Given the description of an element on the screen output the (x, y) to click on. 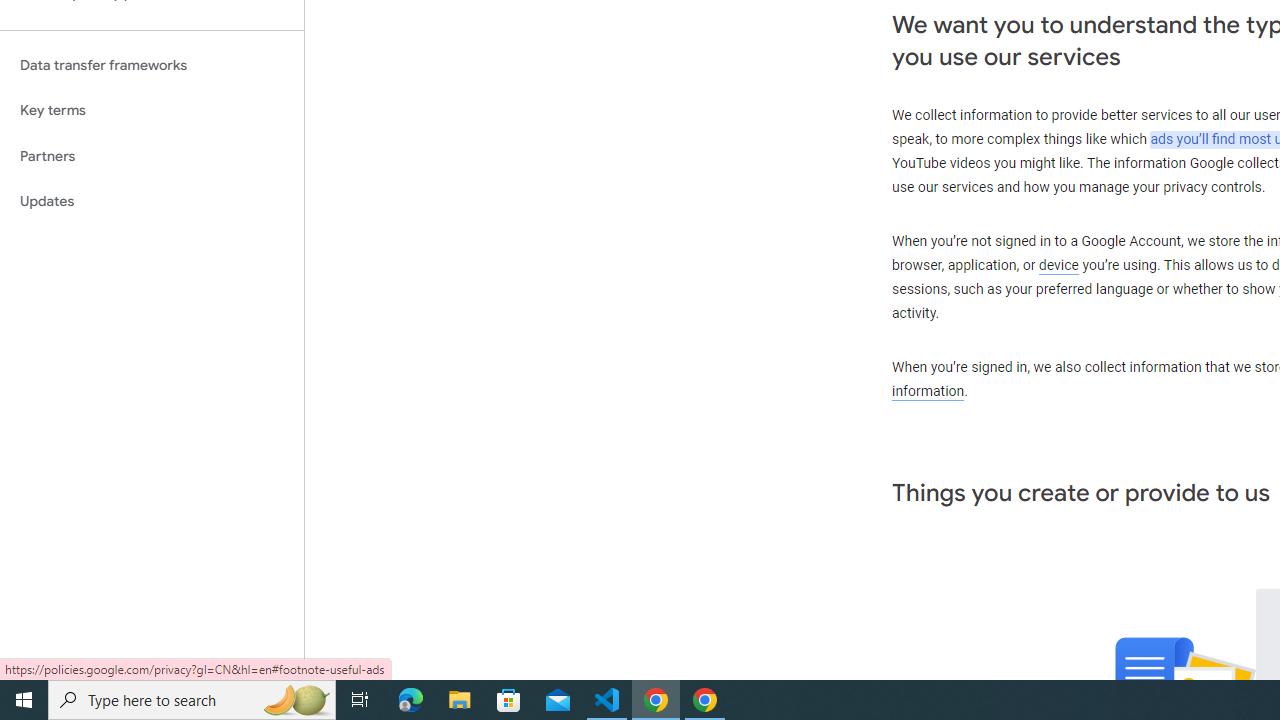
device (1059, 265)
